Given the description of an element on the screen output the (x, y) to click on. 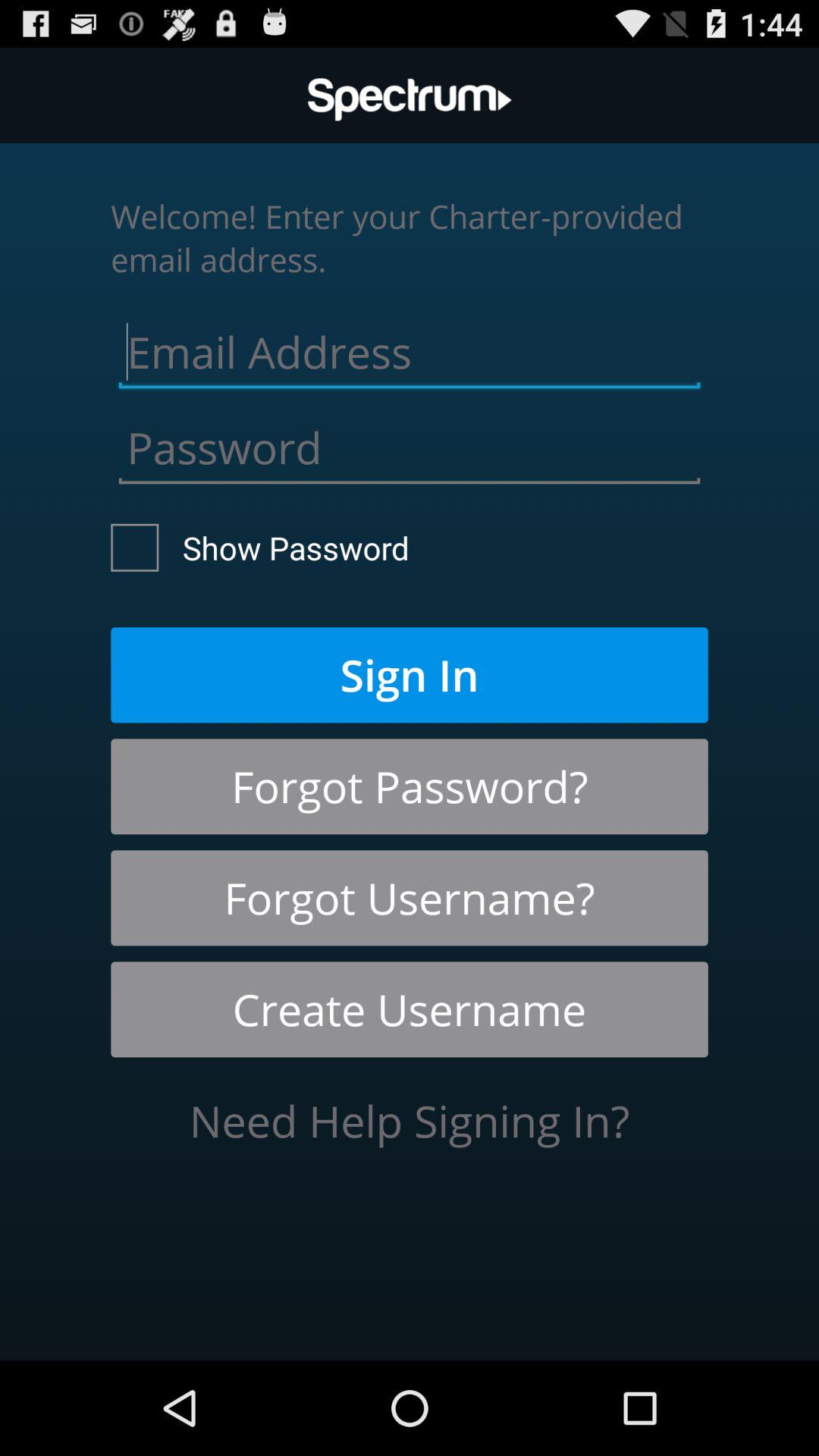
tap the item above the need help signing (409, 1009)
